Given the description of an element on the screen output the (x, y) to click on. 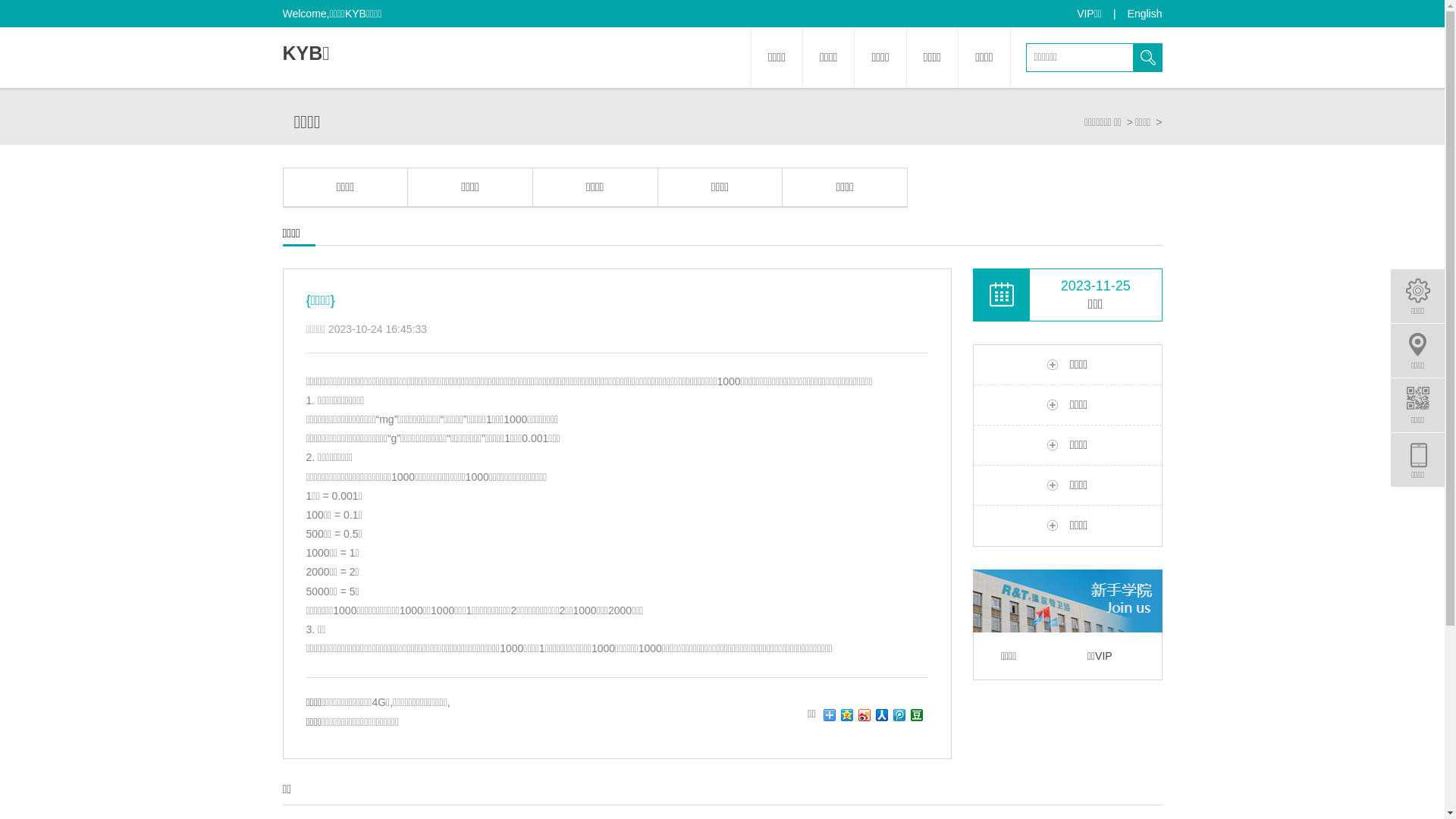
English Element type: text (1144, 13)
